Given the description of an element on the screen output the (x, y) to click on. 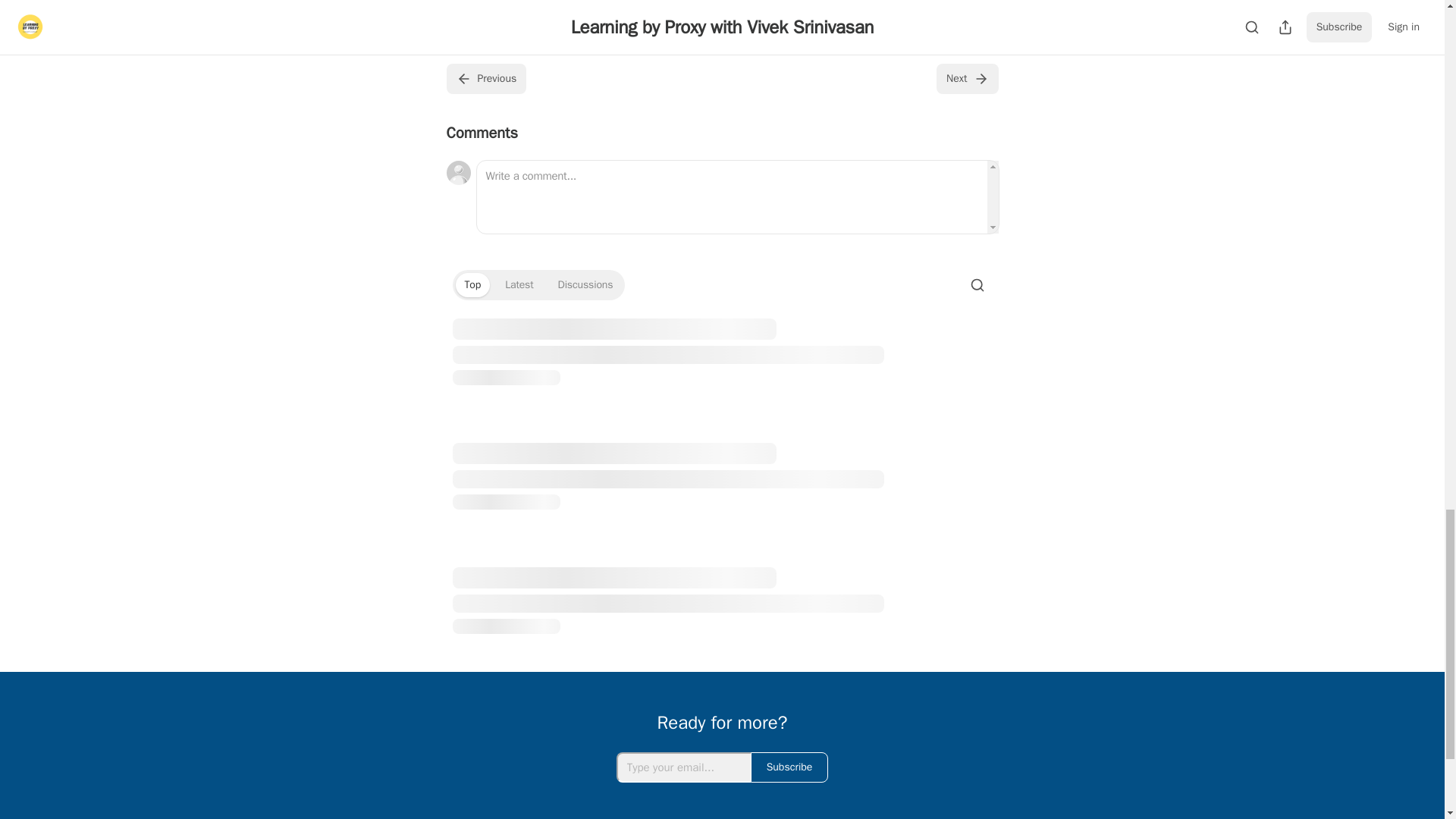
Discussions (585, 284)
Latest (518, 284)
Previous (485, 78)
Next (966, 78)
Top (471, 284)
Share (970, 23)
